Given the description of an element on the screen output the (x, y) to click on. 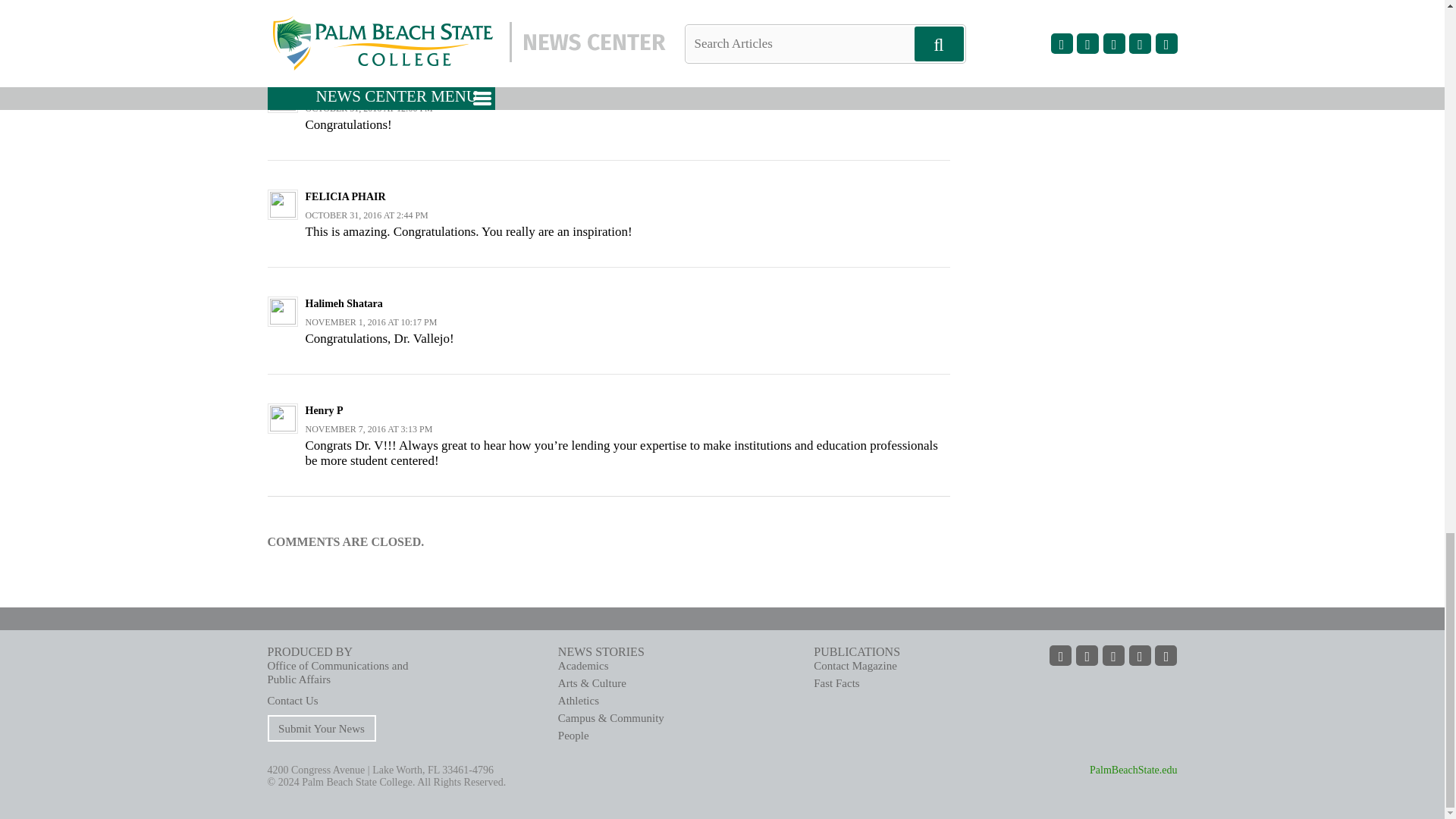
OCTOBER 31, 2016 AT 2:44 PM (366, 214)
OCTOBER 29, 2016 AT 9:34 PM (366, 3)
NOVEMBER 1, 2016 AT 10:17 PM (370, 321)
OCTOBER 31, 2016 AT 12:00 PM (368, 108)
NOVEMBER 7, 2016 AT 3:13 PM (368, 429)
